Given the description of an element on the screen output the (x, y) to click on. 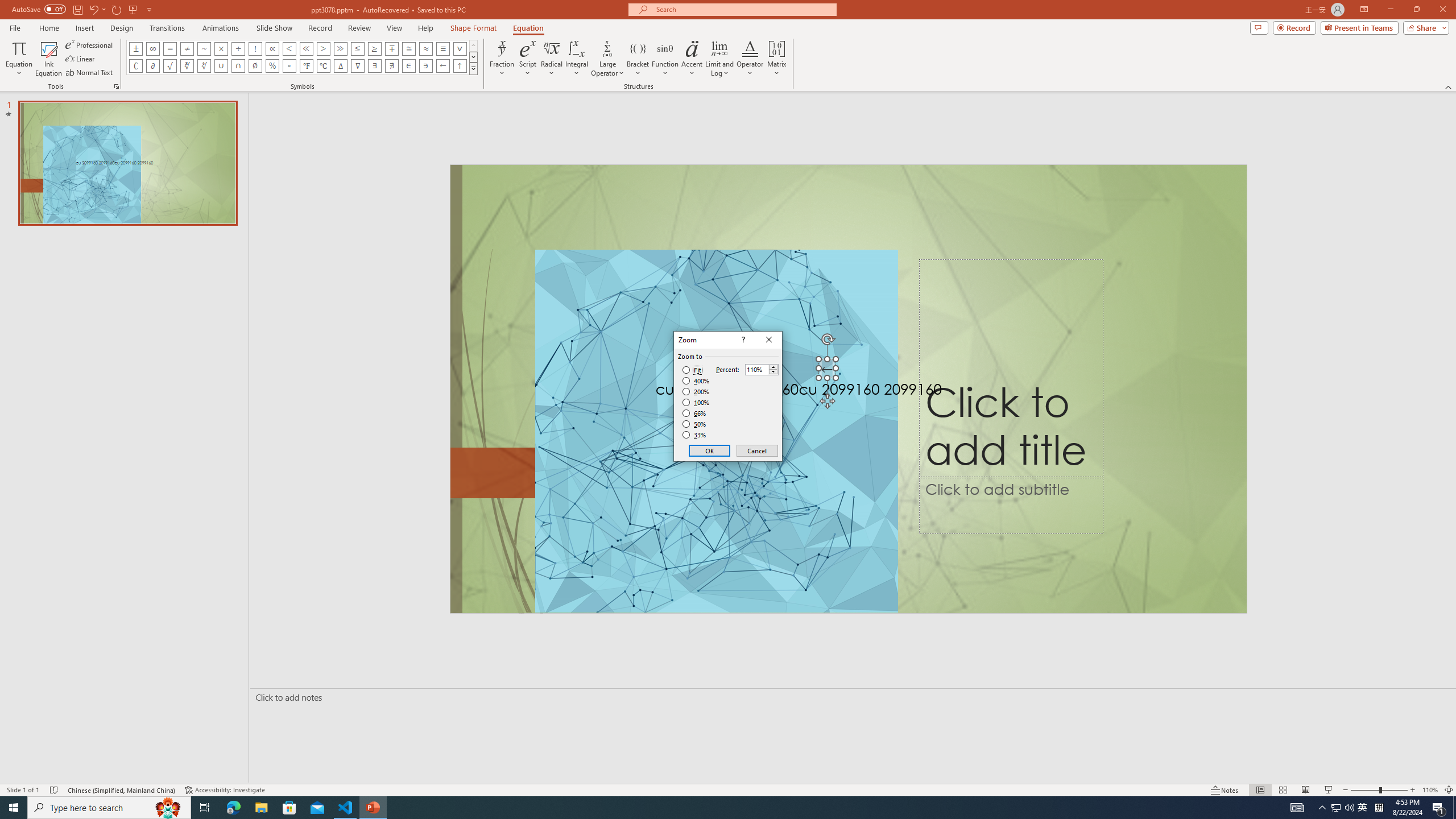
Equation Symbol Complement (136, 65)
Equation Symbol Percentage (272, 65)
Bracket (638, 58)
Equation Symbol For All (459, 48)
Normal Text (90, 72)
Running applications (707, 807)
200% (696, 391)
